Given the description of an element on the screen output the (x, y) to click on. 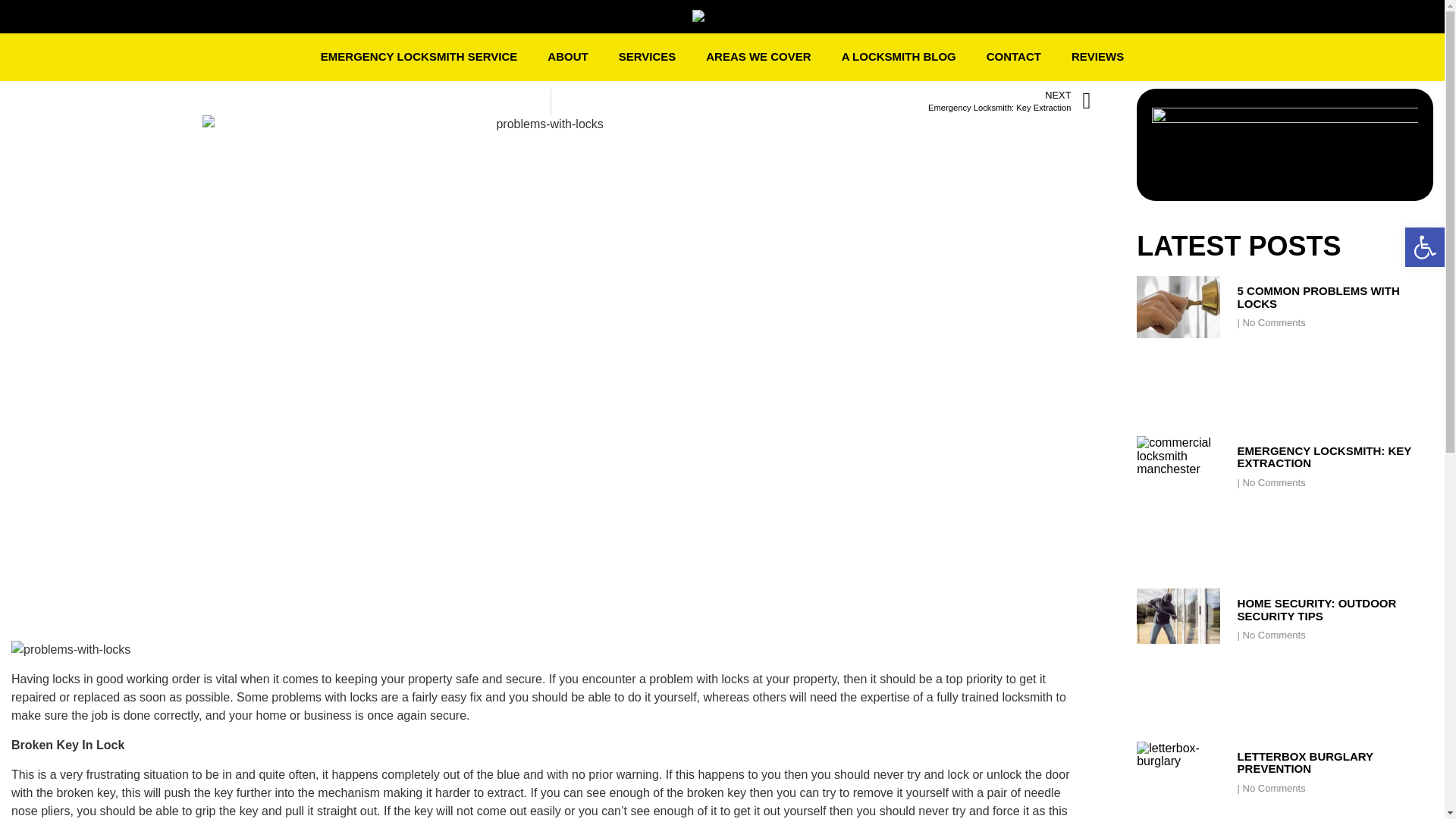
EMERGENCY LOCKSMITH: KEY EXTRACTION (1323, 457)
EMERGENCY LOCKSMITH SERVICE (418, 56)
ABOUT (567, 56)
AREAS WE COVER (820, 100)
SERVICES (757, 56)
REVIEWS (647, 56)
Accessibility Tools (1097, 56)
A LOCKSMITH BLOG (1424, 247)
CONTACT (899, 56)
